Given the description of an element on the screen output the (x, y) to click on. 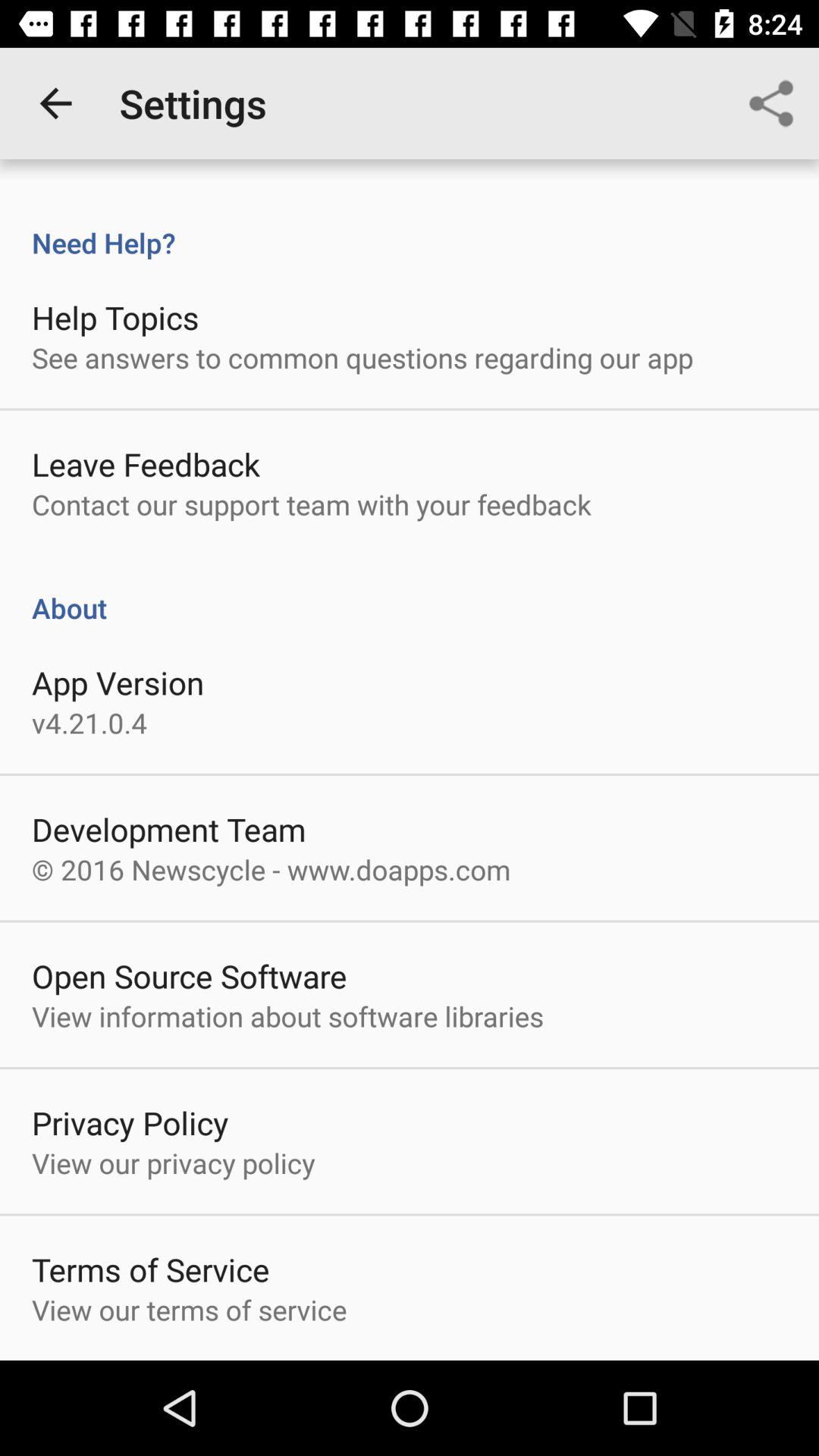
launch see answers to icon (362, 357)
